Given the description of an element on the screen output the (x, y) to click on. 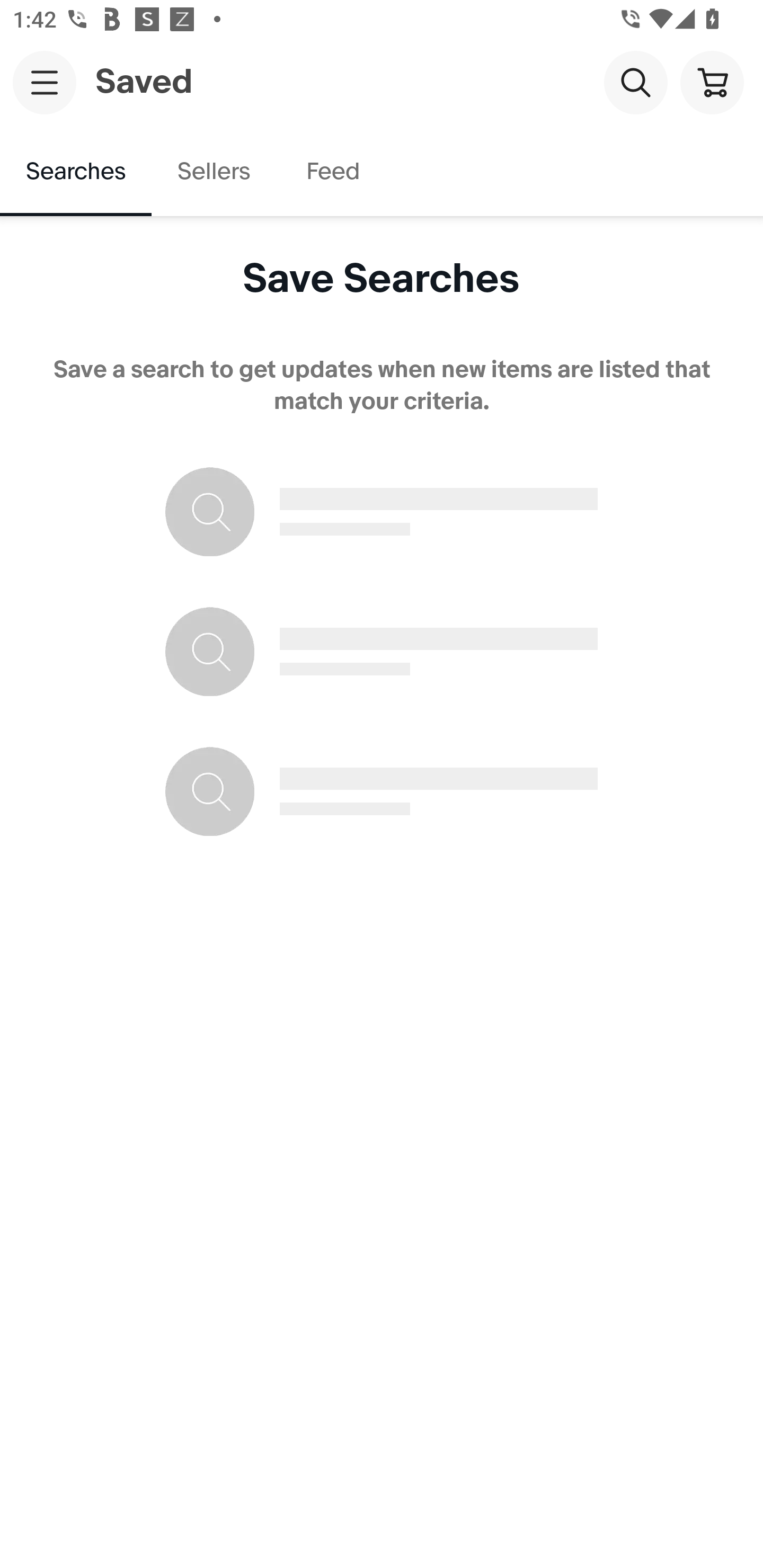
Main navigation, open (44, 82)
Search (635, 81)
Cart button shopping cart (711, 81)
Sellers (213, 171)
Feed (332, 171)
